Given the description of an element on the screen output the (x, y) to click on. 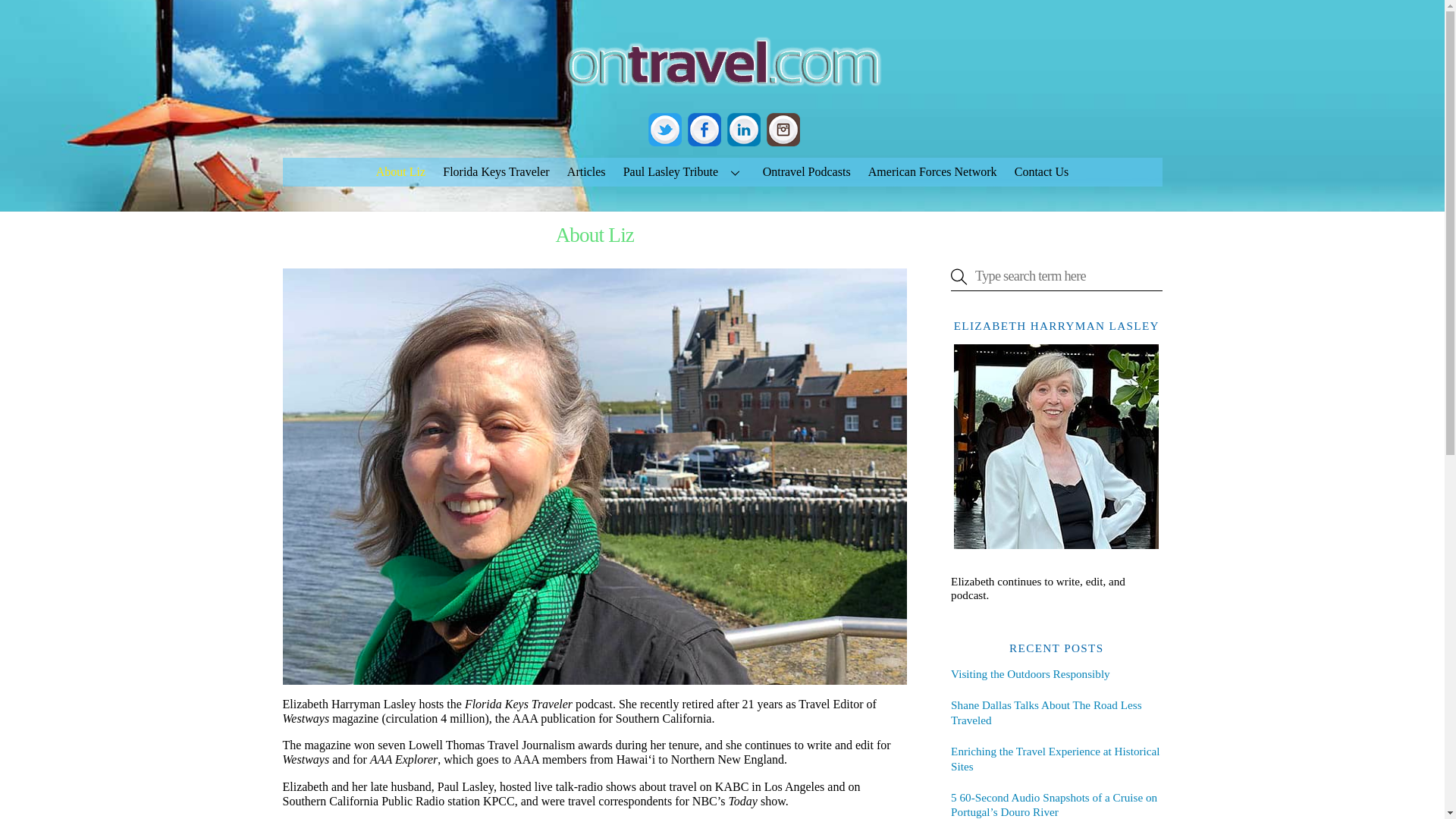
Ontravel Podcasts (806, 172)
American Forces Network (932, 172)
Shane Dallas Talks About The Road Less Traveled (1055, 712)
Articles (585, 172)
OnTravel.com (722, 92)
About Liz (400, 172)
Florida Keys Traveler (496, 172)
Paul Lasley Tribute (683, 172)
Search (1055, 276)
